Given the description of an element on the screen output the (x, y) to click on. 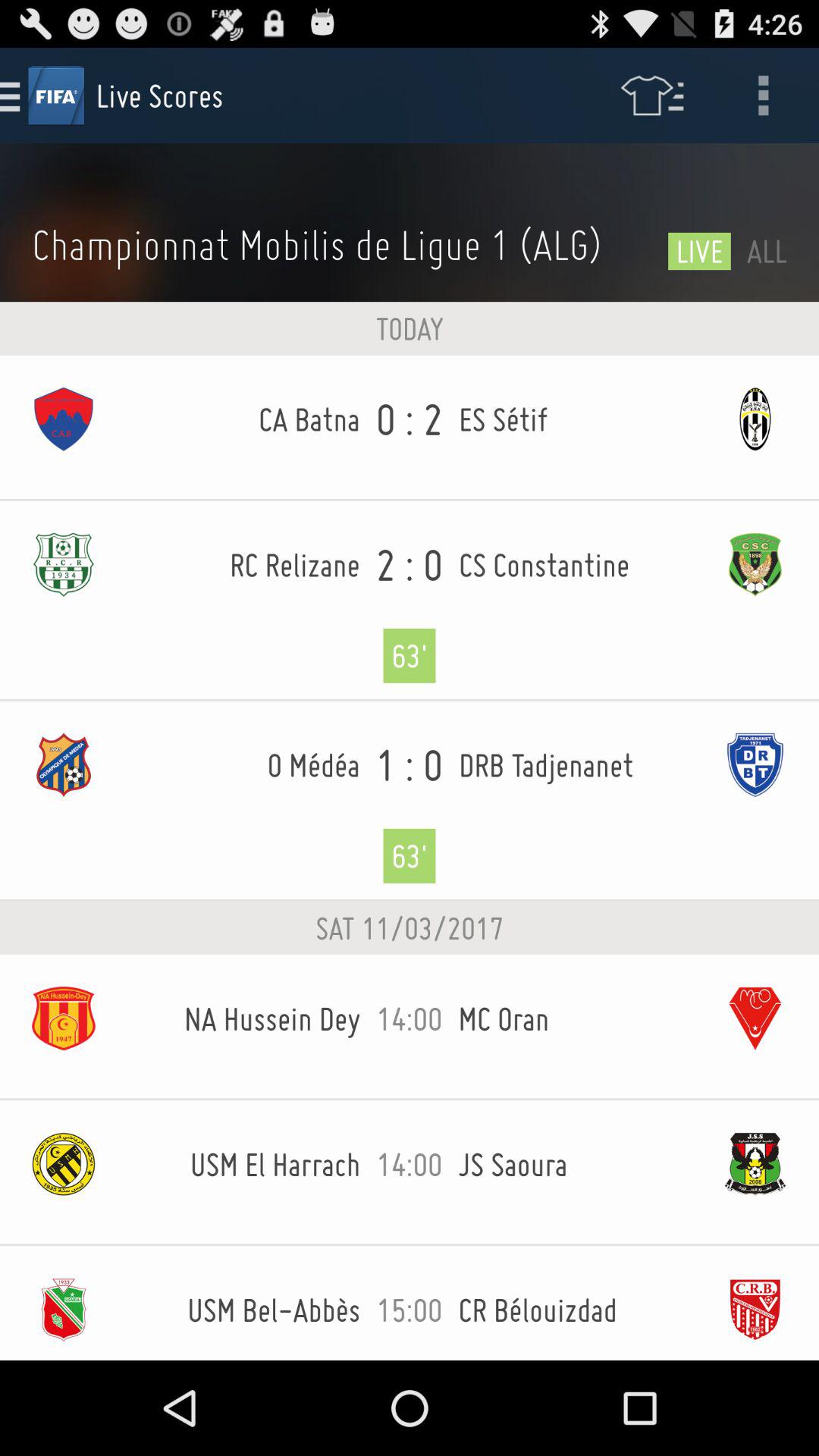
turn off the icon next to the live scores app (651, 95)
